Given the description of an element on the screen output the (x, y) to click on. 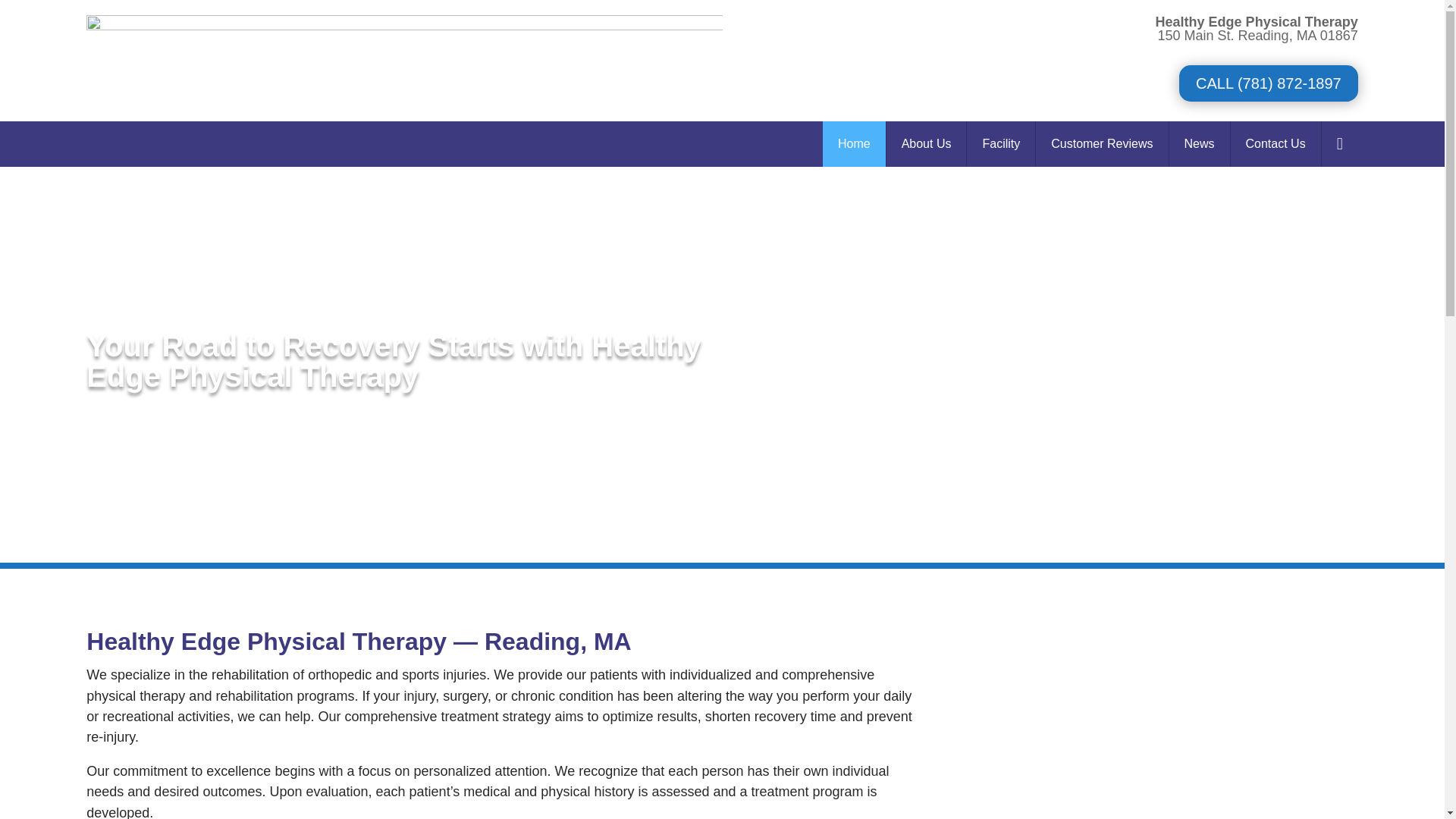
News (1199, 144)
Customer Reviews (1101, 144)
Contact Us (1275, 144)
About Us (926, 144)
Facility (1000, 144)
Home (853, 144)
